Given the description of an element on the screen output the (x, y) to click on. 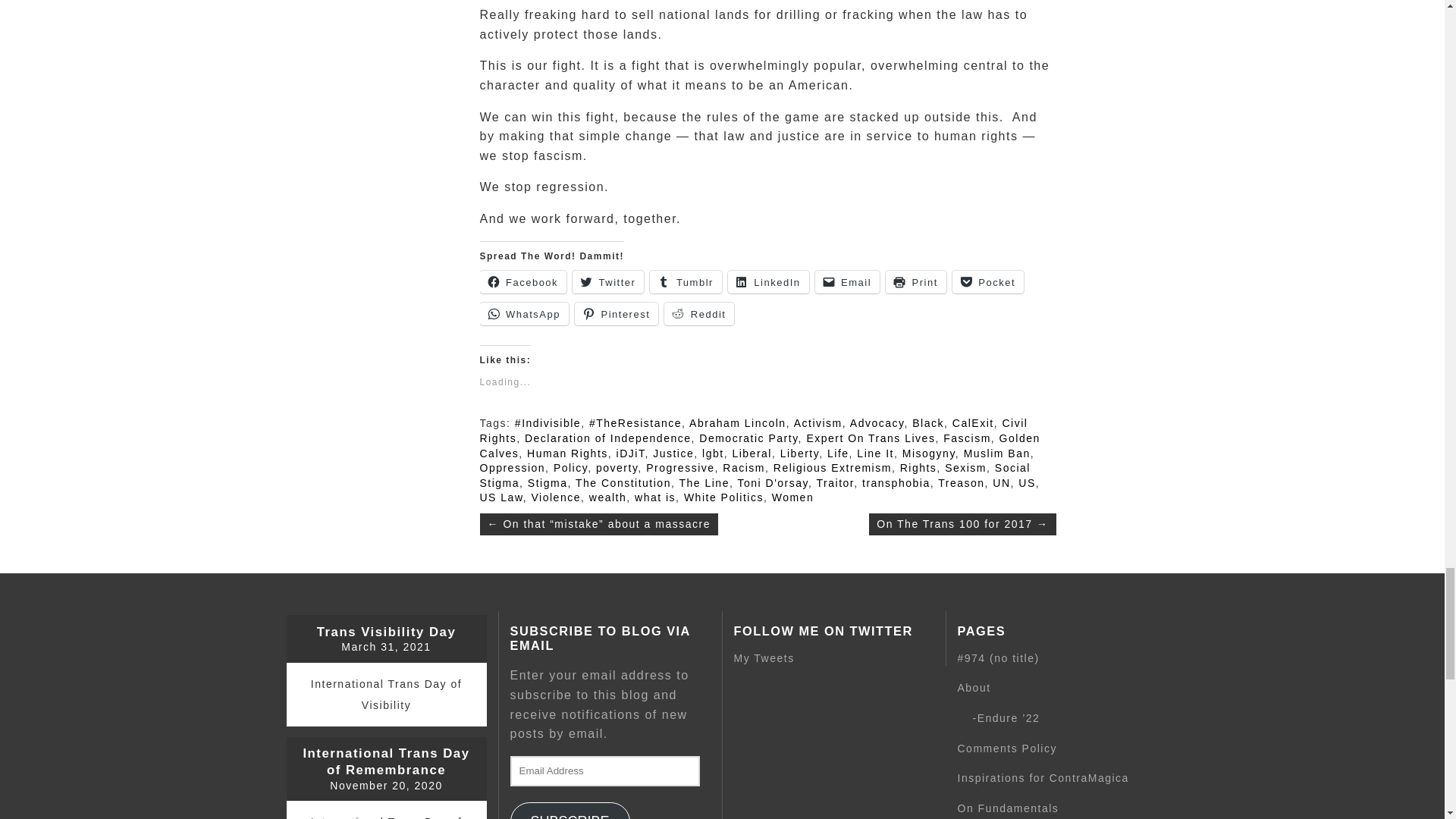
Facebook (522, 282)
Click to share on WhatsApp (523, 313)
Click to print (915, 282)
Tumblr (684, 282)
Email (847, 282)
Click to email a link to a friend (847, 282)
Click to share on LinkedIn (768, 282)
Print (915, 282)
Click to share on Facebook (522, 282)
LinkedIn (768, 282)
Click to share on Twitter (607, 282)
WhatsApp (523, 313)
Pocket (987, 282)
Pinterest (616, 313)
Twitter (607, 282)
